Given the description of an element on the screen output the (x, y) to click on. 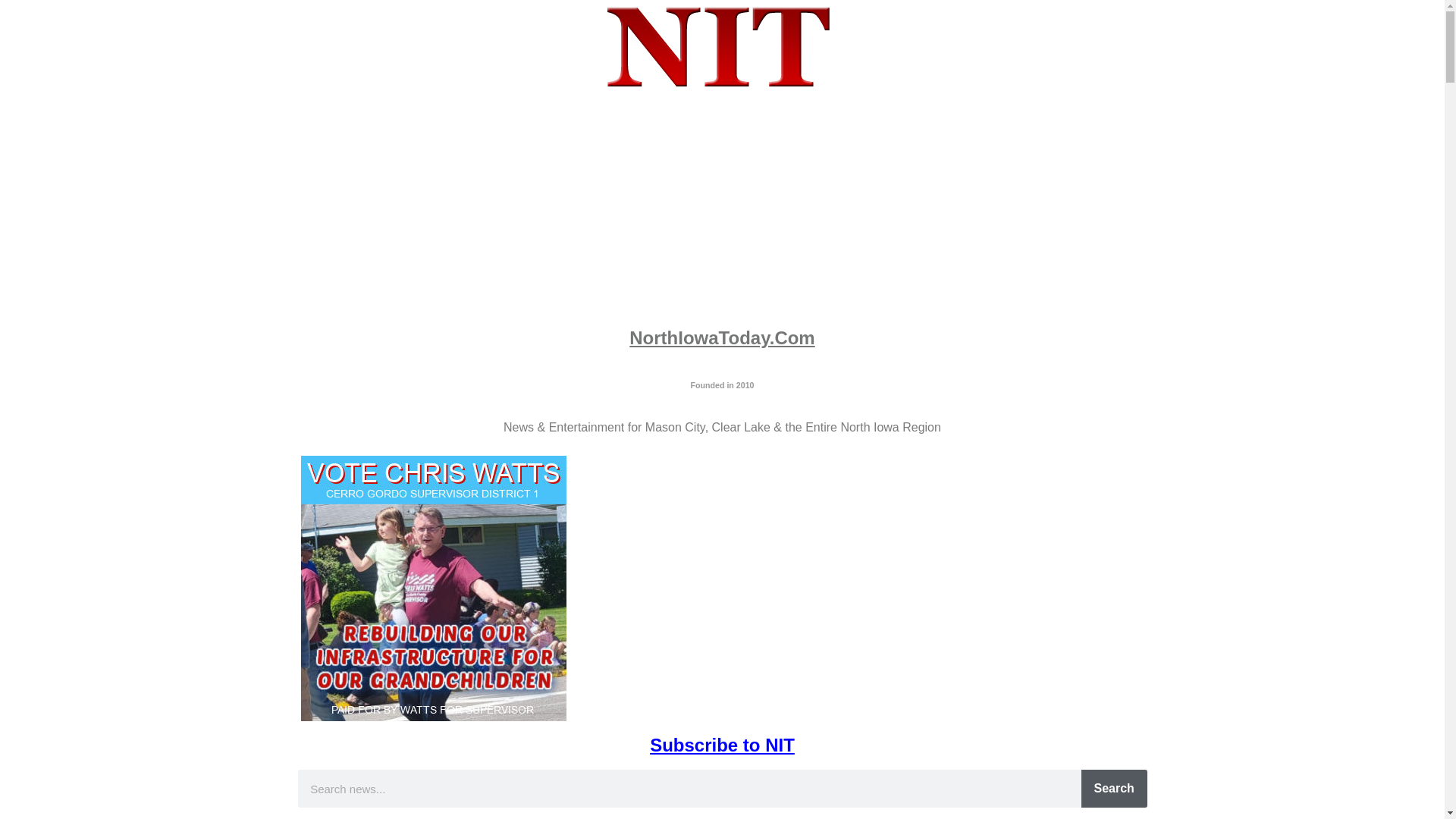
Subscribe to NIT (721, 744)
Search (1114, 788)
NorthIowaToday.Com (720, 337)
